Given the description of an element on the screen output the (x, y) to click on. 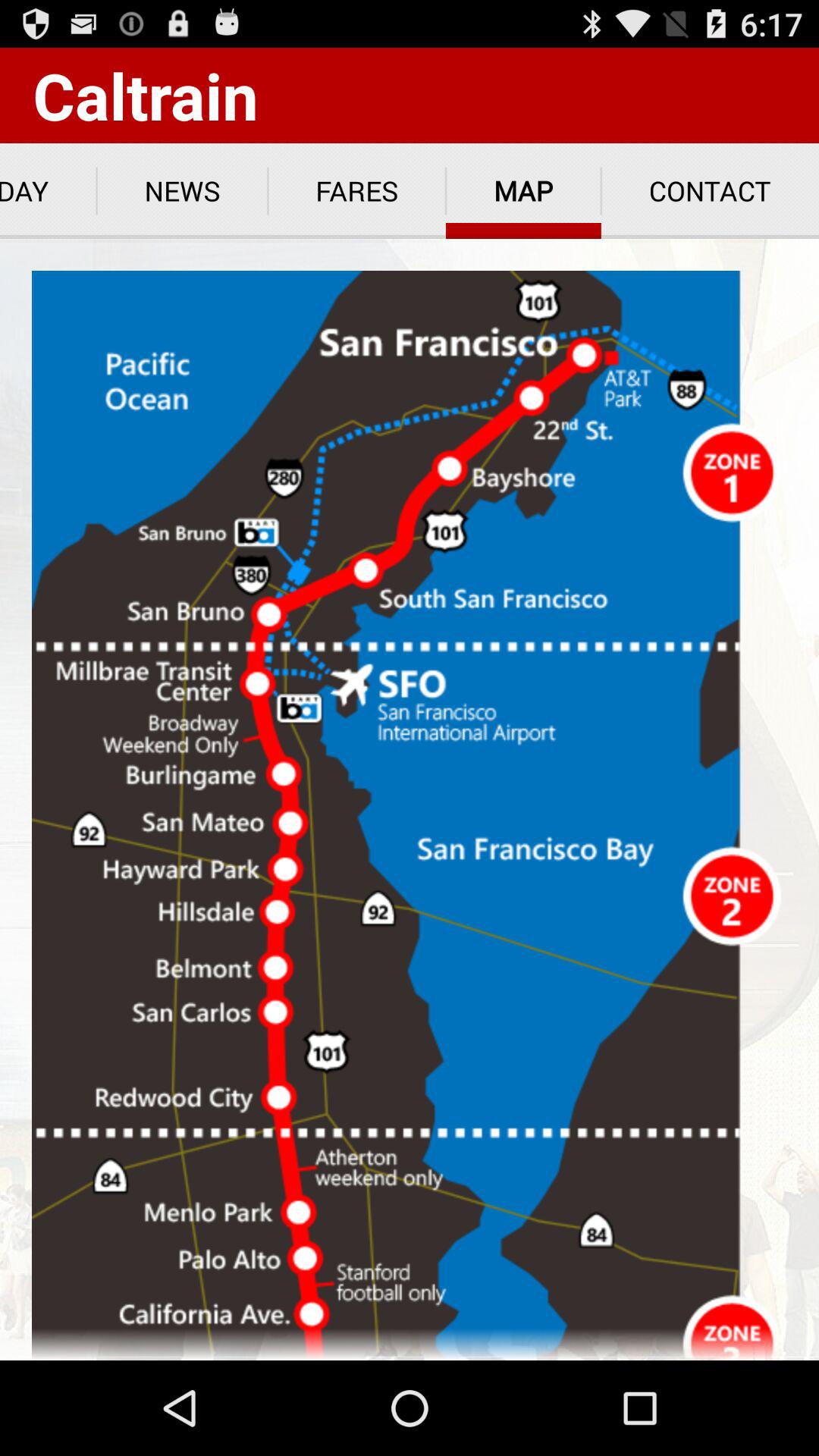
scroll until the fares app (356, 190)
